Given the description of an element on the screen output the (x, y) to click on. 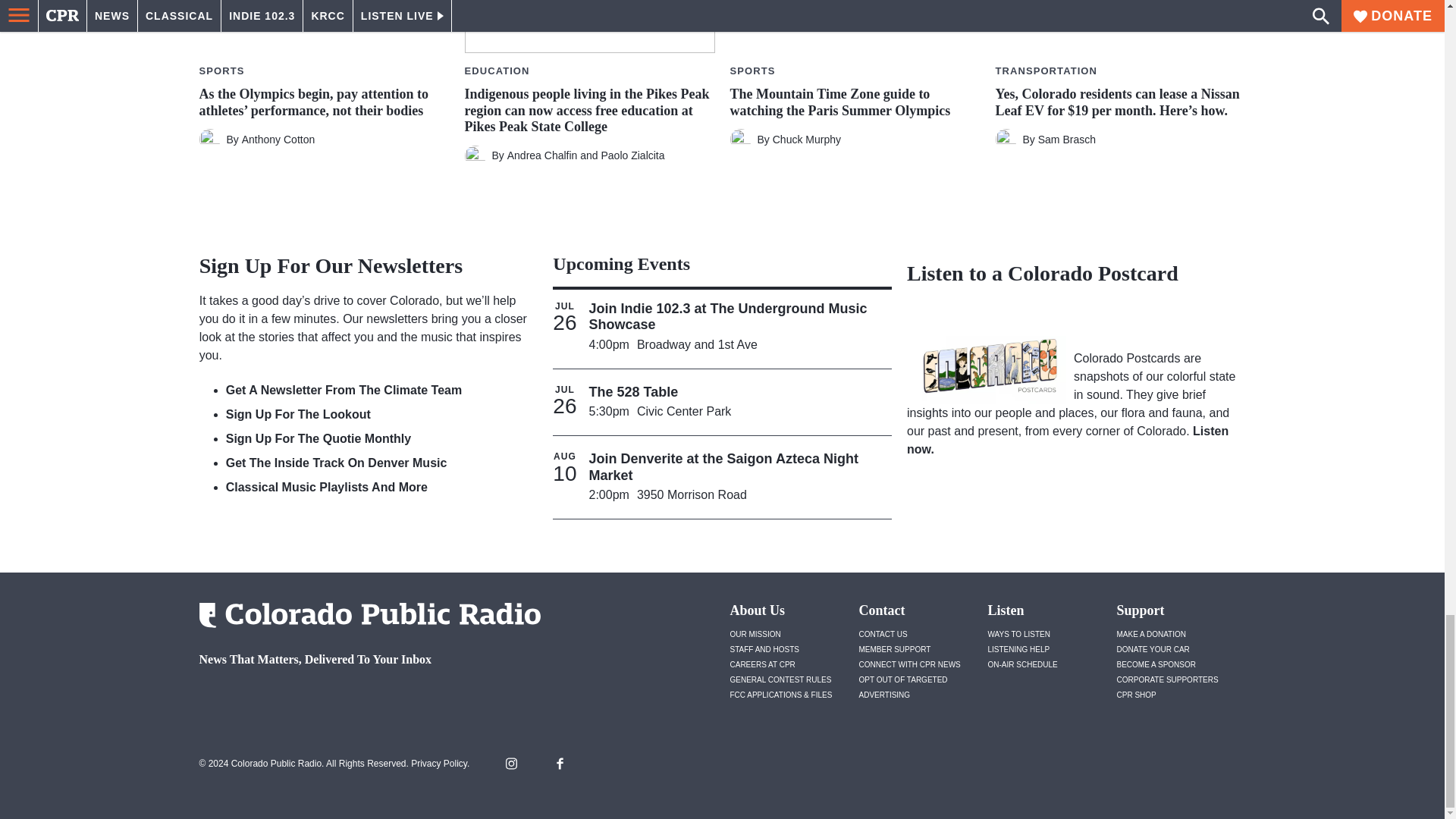
footer (364, 699)
